Given the description of an element on the screen output the (x, y) to click on. 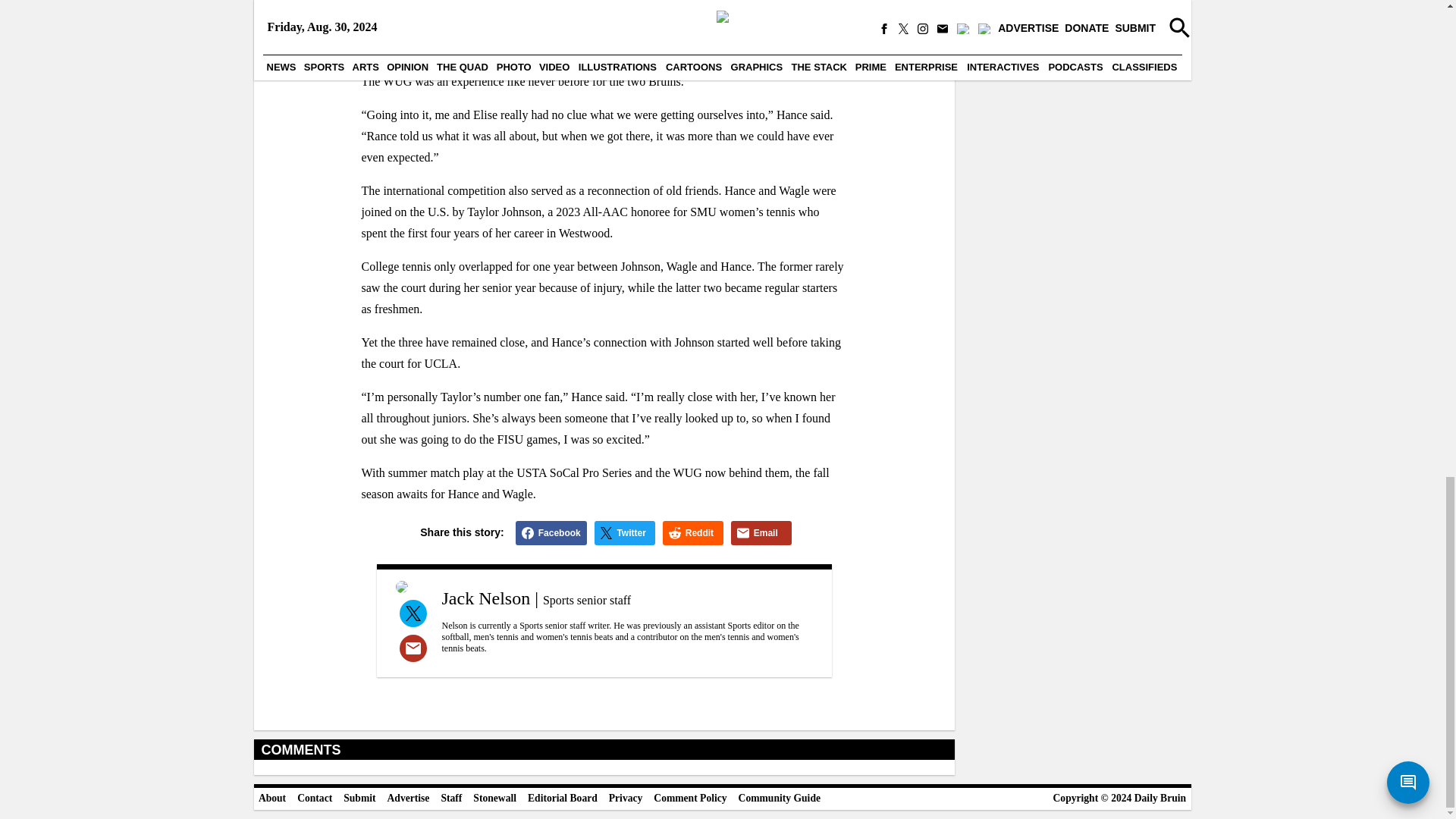
Twitter (624, 532)
Facebook (550, 532)
Email (761, 532)
Jack Nelson (485, 598)
Reddit (692, 532)
